Given the description of an element on the screen output the (x, y) to click on. 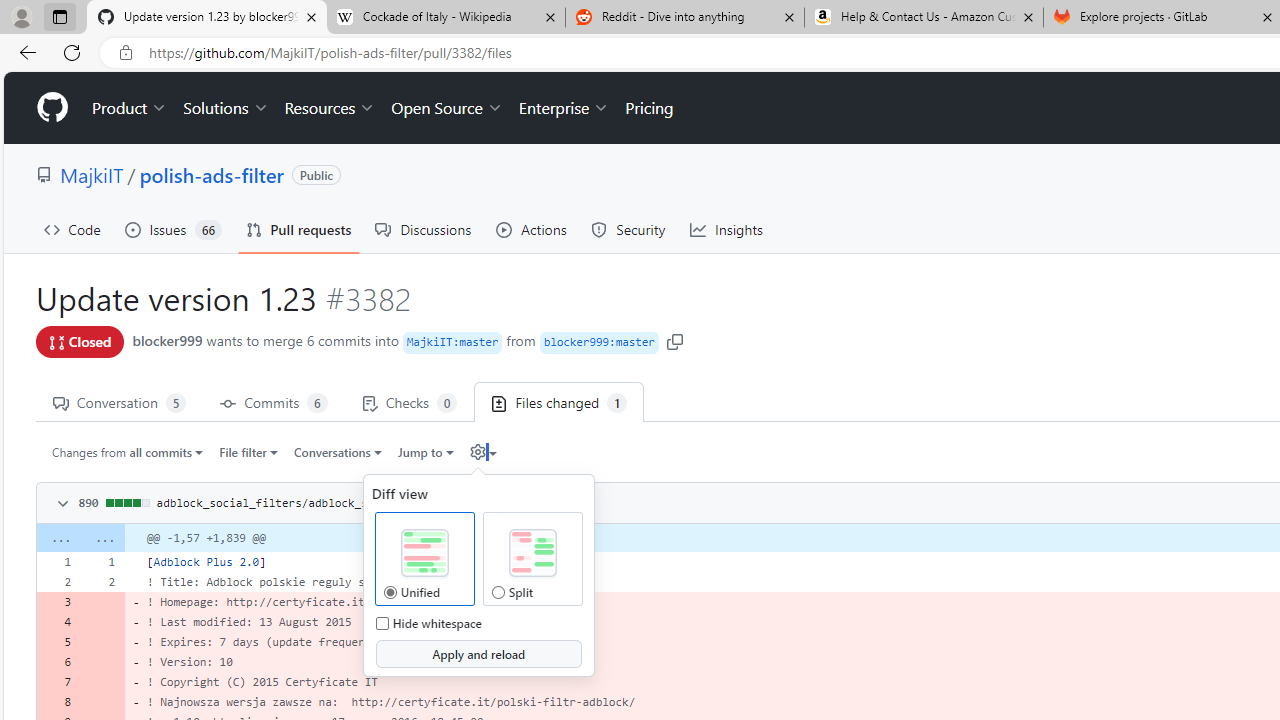
Jump to (426, 451)
Split Diff View (532, 553)
Solutions (225, 107)
Resources (330, 107)
Unified Diff View (424, 553)
6 (58, 661)
Insights (726, 229)
Conversations (338, 451)
Actions (531, 229)
Changes from all commits (127, 451)
 Commits 6 (274, 401)
Discussions (424, 229)
